Given the description of an element on the screen output the (x, y) to click on. 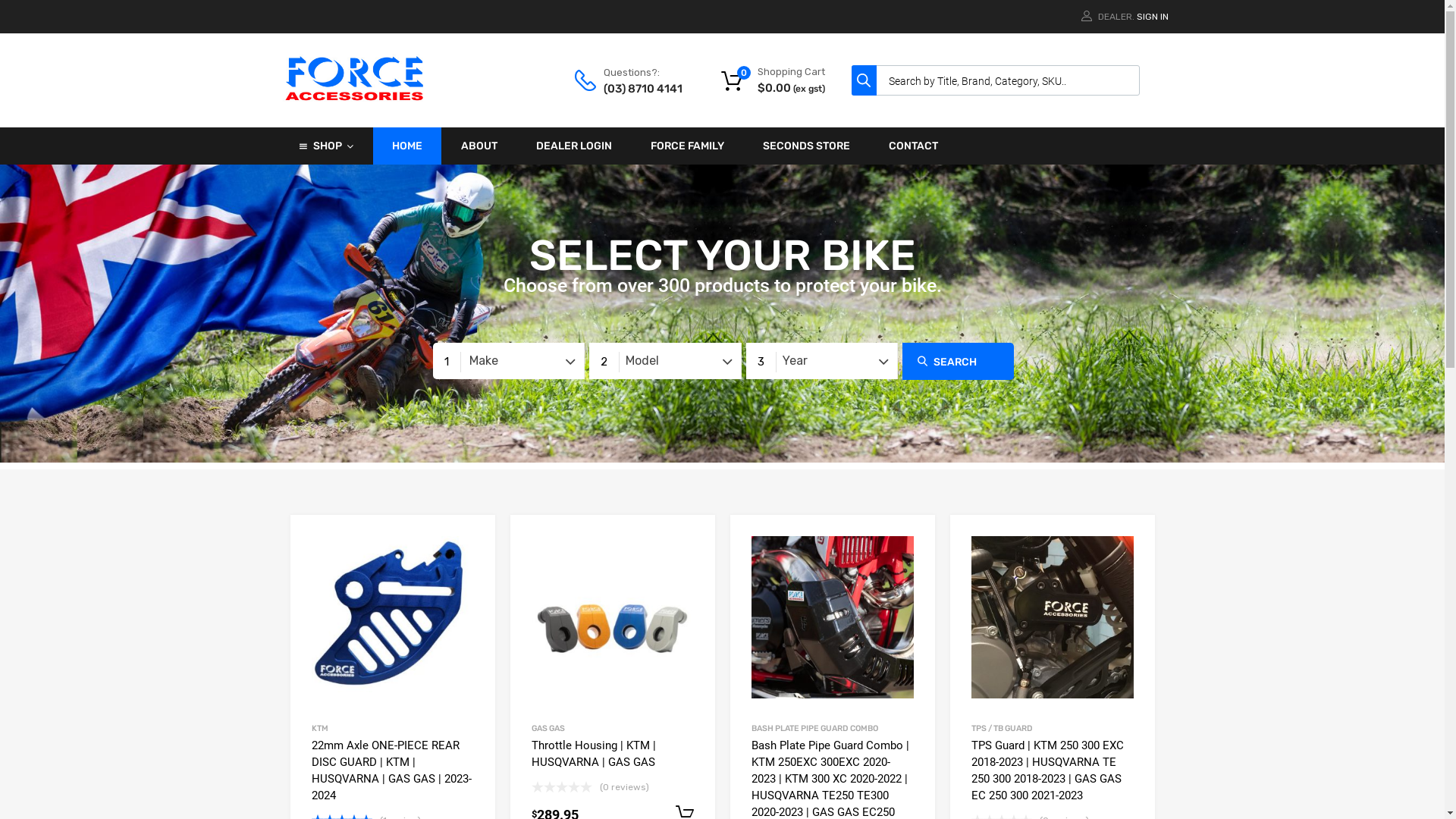
(03) 8710 4141 Element type: text (640, 88)
FORCE FAMILY Element type: text (686, 146)
GAS GAS Element type: text (547, 728)
Login Element type: text (799, 432)
HOME Element type: text (407, 146)
Register Element type: text (795, 469)
DEALER LOGIN Element type: text (574, 146)
TPS / TB GUARD Element type: text (1001, 728)
Year Element type: text (821, 360)
CONTACT Element type: text (913, 146)
Throttle Housing | KTM | HUSQVARNA | GAS GAS Element type: text (611, 753)
Make Element type: text (508, 360)
Force Accessories Element type: hover (354, 98)
SHOP Element type: text (326, 146)
KTM Element type: text (318, 728)
ABOUT Element type: text (478, 146)
Model Element type: text (664, 360)
SECONDS STORE Element type: text (806, 146)
BASH PLATE PIPE GUARD COMBO Element type: text (813, 728)
SEARCH Element type: text (957, 360)
SIGN IN Element type: text (1151, 16)
